Given the description of an element on the screen output the (x, y) to click on. 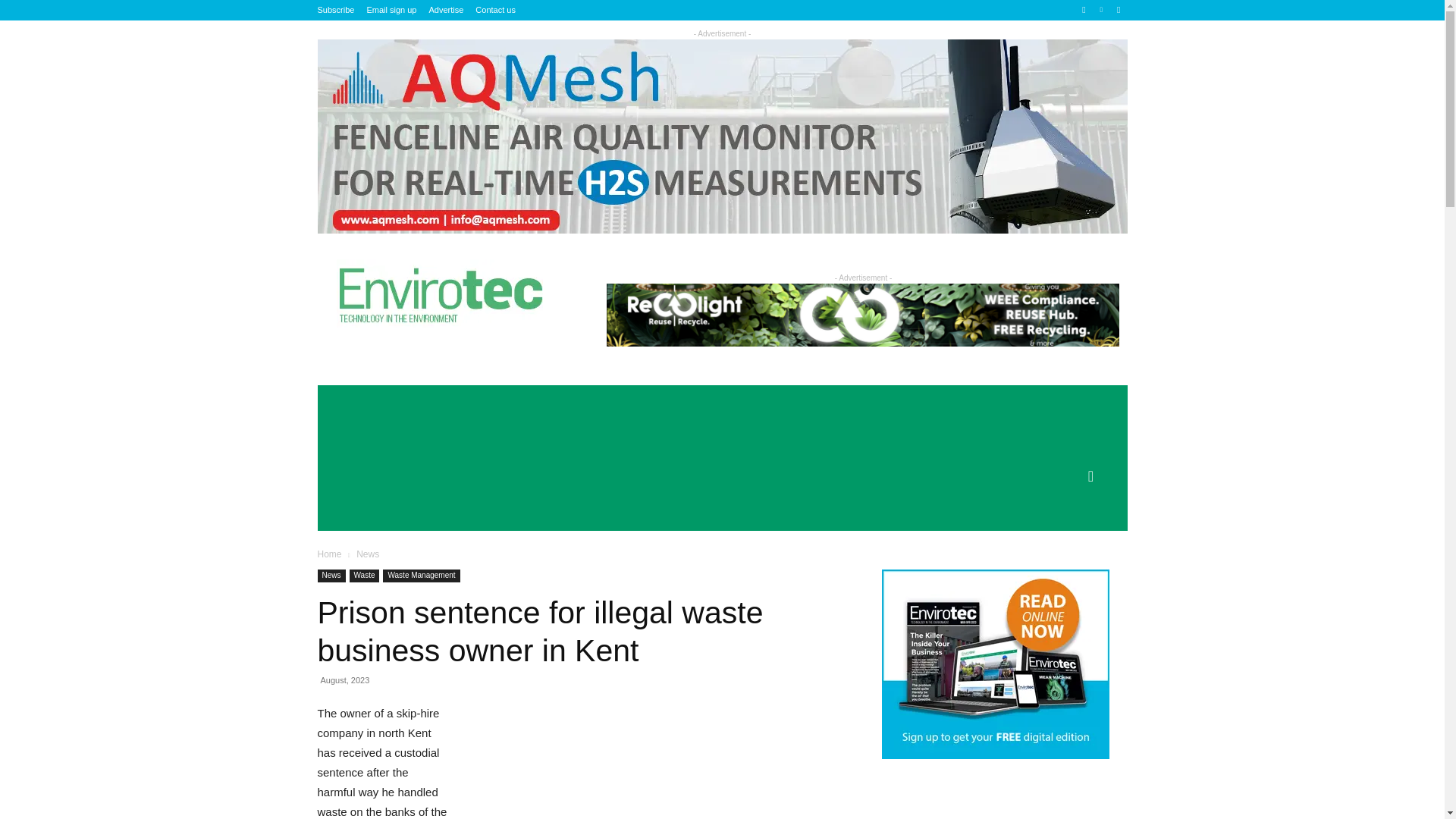
Twitter (1117, 9)
Facebook (1084, 9)
Linkedin (1101, 9)
